Given the description of an element on the screen output the (x, y) to click on. 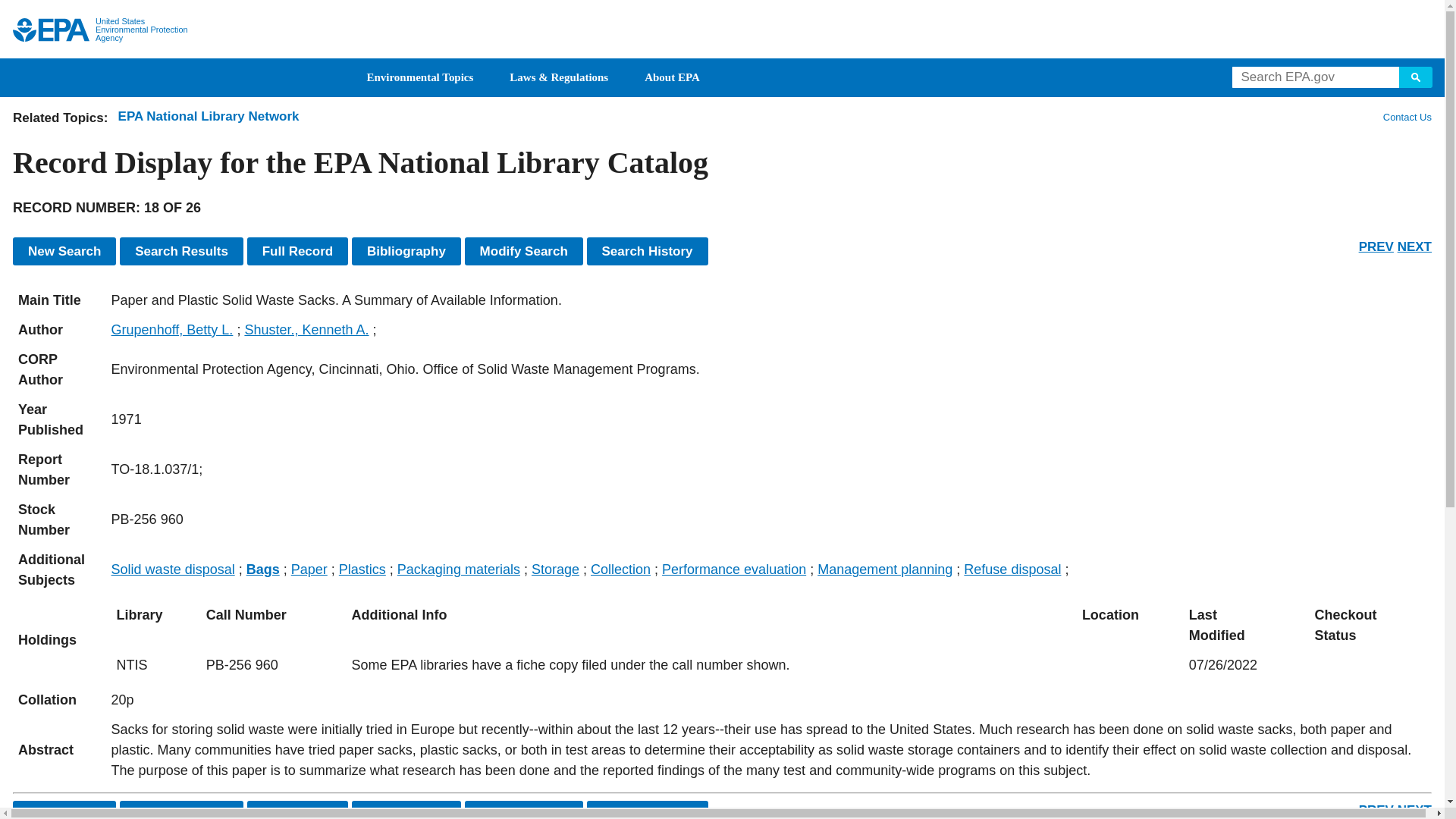
Refuse disposal (1012, 569)
US EPA (50, 29)
EPA National Library Network (208, 115)
Show results in bibliographic format (406, 251)
full length text available by clicking full record (769, 750)
Your Search History (646, 251)
About EPA (671, 77)
Learn about Environmental Topics that EPA covers. (420, 77)
Environmental Topics (420, 77)
Bibliography (406, 251)
